Given the description of an element on the screen output the (x, y) to click on. 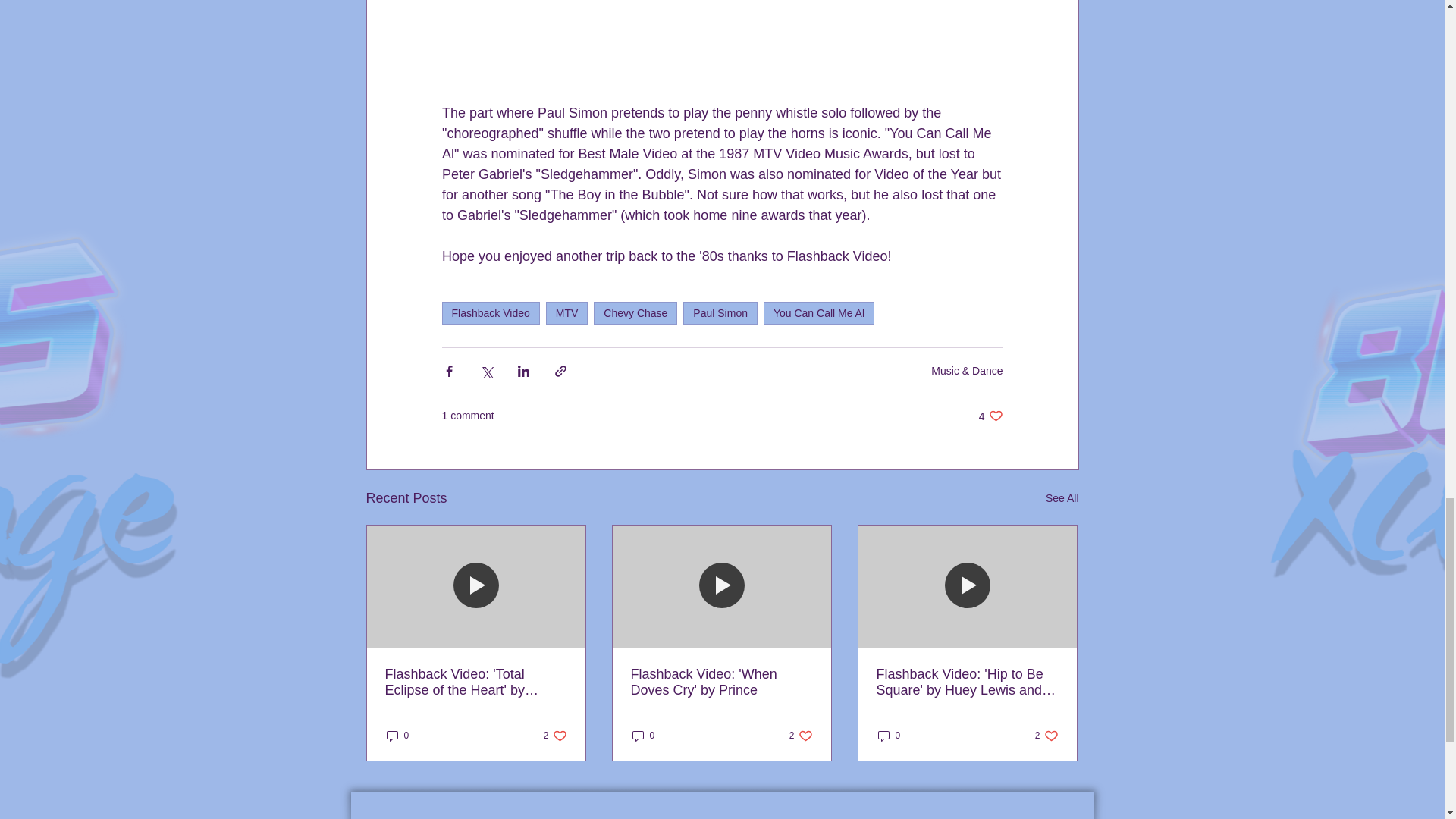
You Can Call Me Al (818, 313)
Chevy Chase (990, 415)
0 (635, 313)
See All (555, 735)
Flashback Video (397, 735)
MTV (1061, 498)
Paul Simon (489, 313)
